Given the description of an element on the screen output the (x, y) to click on. 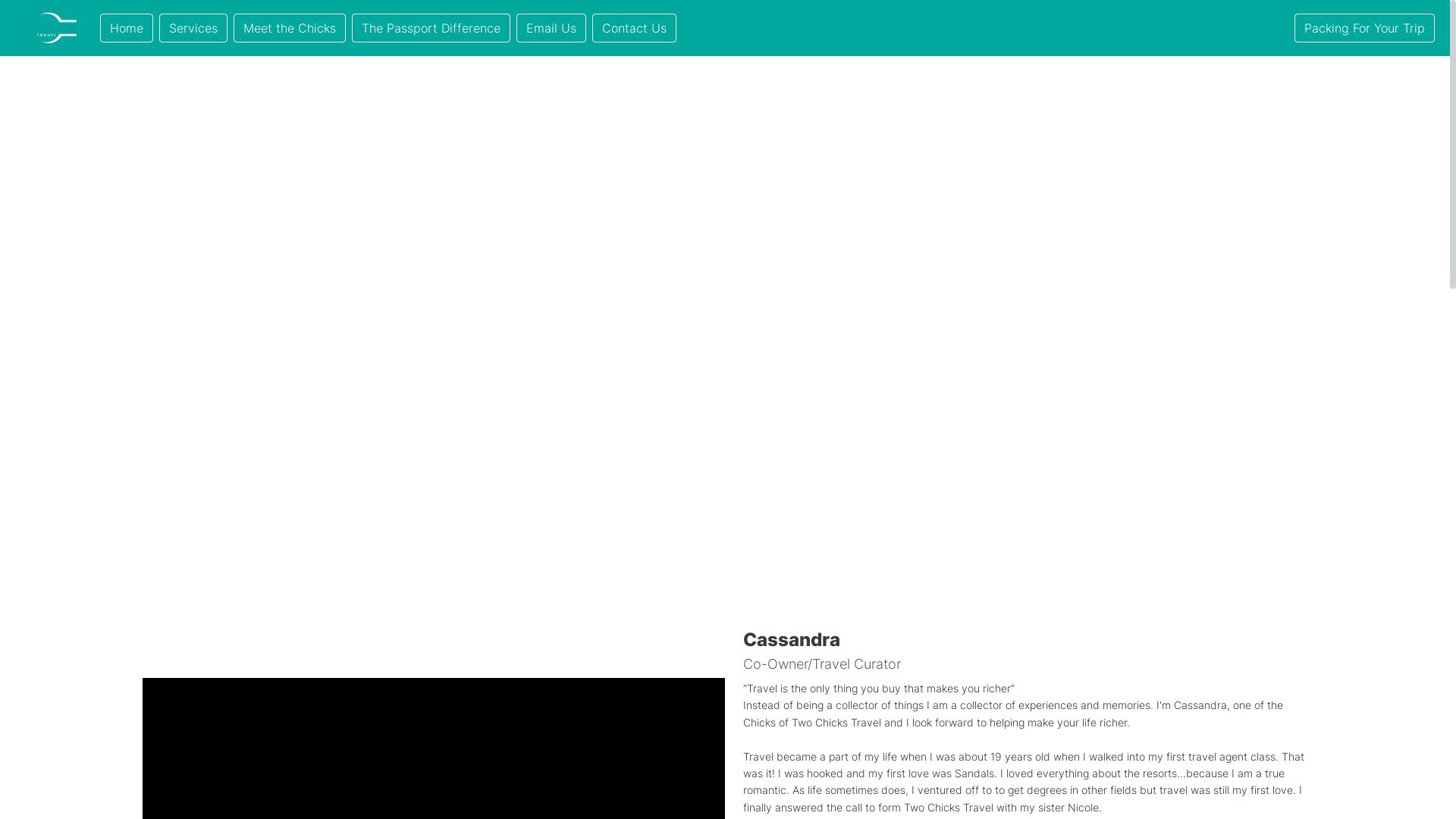
Email Us Element type: text (551, 27)
Home Element type: text (126, 27)
Services Element type: text (193, 27)
Packing For Your Trip Element type: text (1364, 27)
The Passport Difference Element type: text (430, 27)
Meet the Chicks Element type: text (289, 27)
Contact Us Element type: text (634, 27)
